Given the description of an element on the screen output the (x, y) to click on. 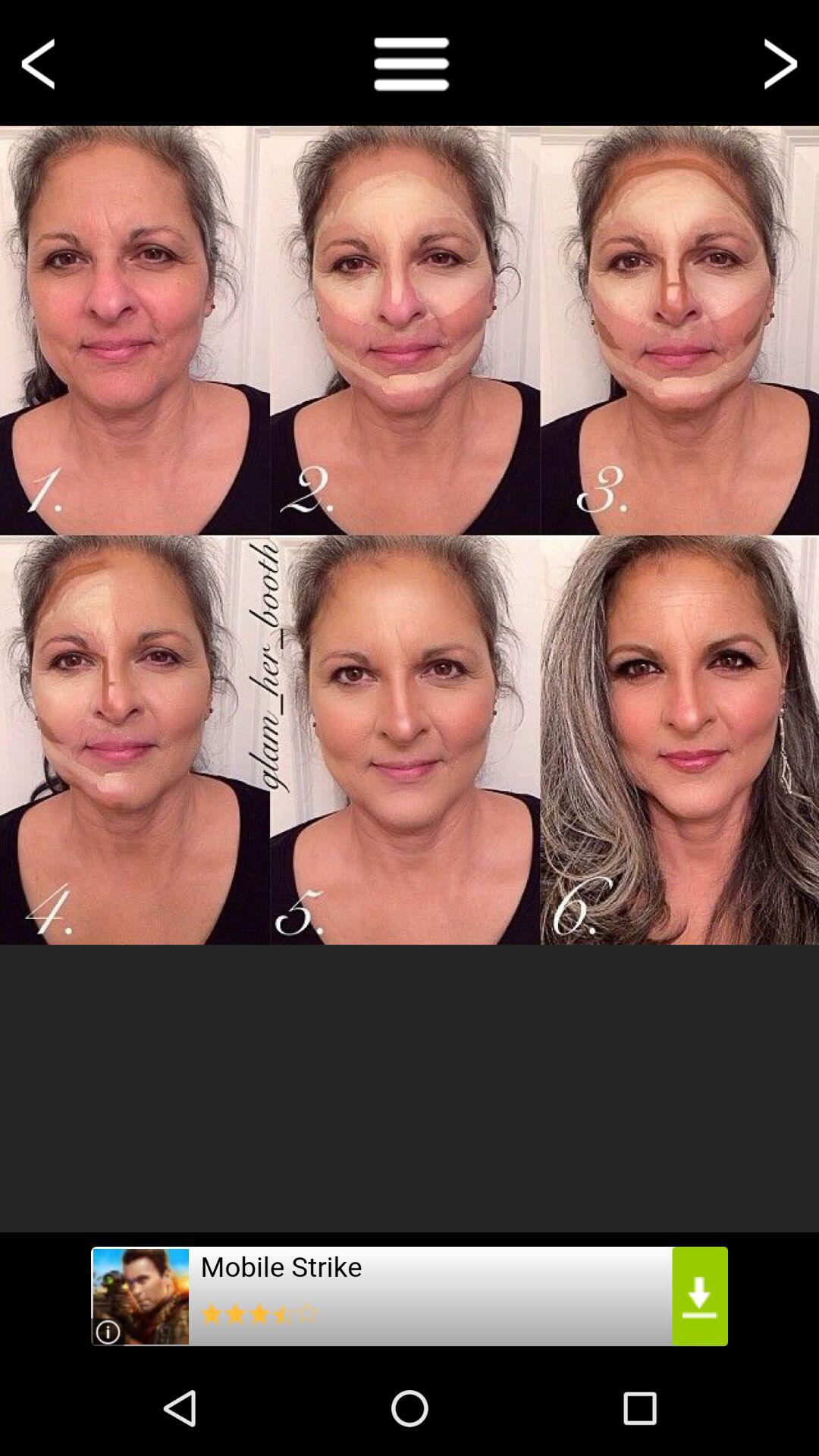
click on advertisement banner (409, 1296)
